Given the description of an element on the screen output the (x, y) to click on. 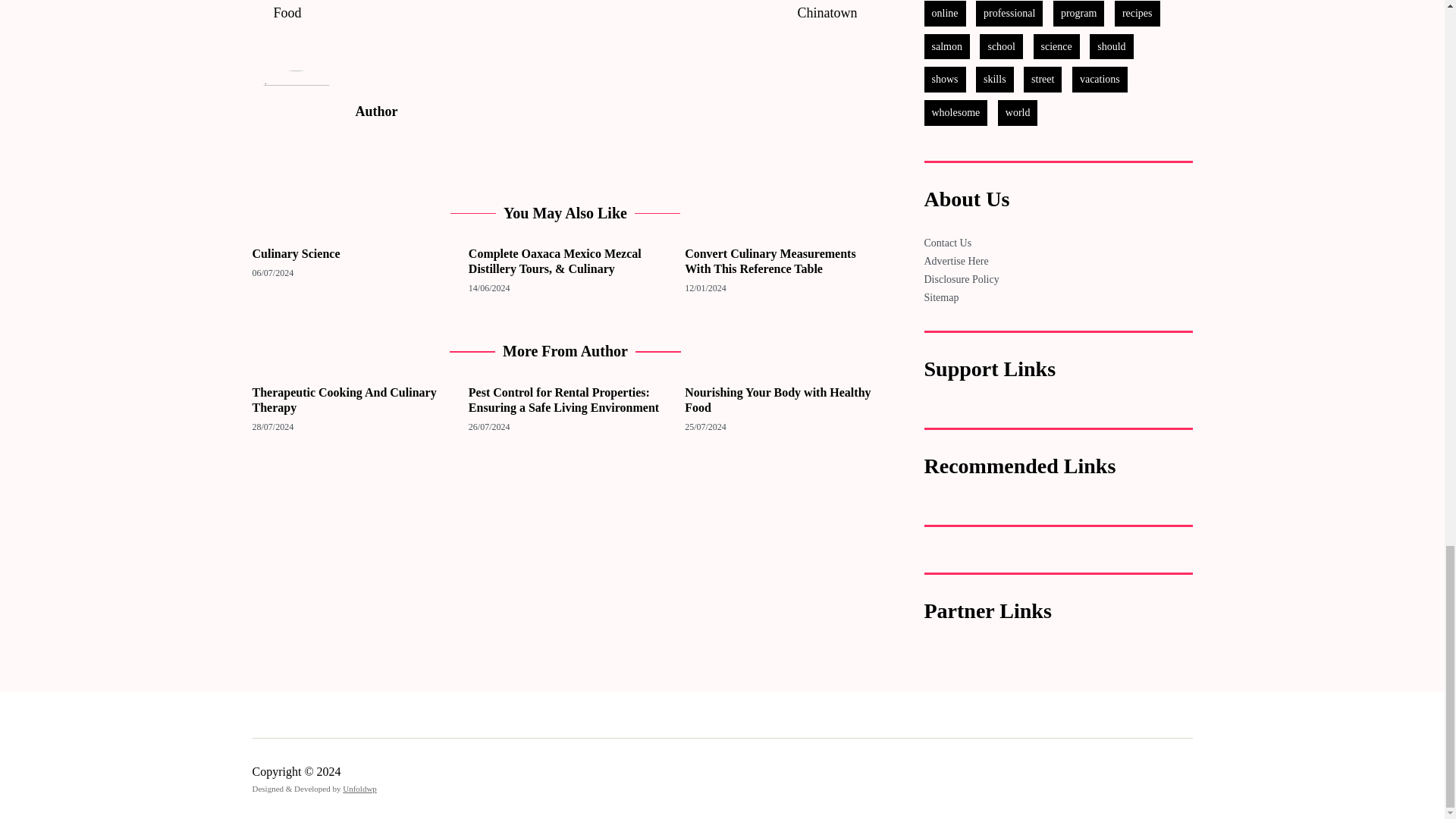
Author (616, 111)
Author (295, 114)
